Given the description of an element on the screen output the (x, y) to click on. 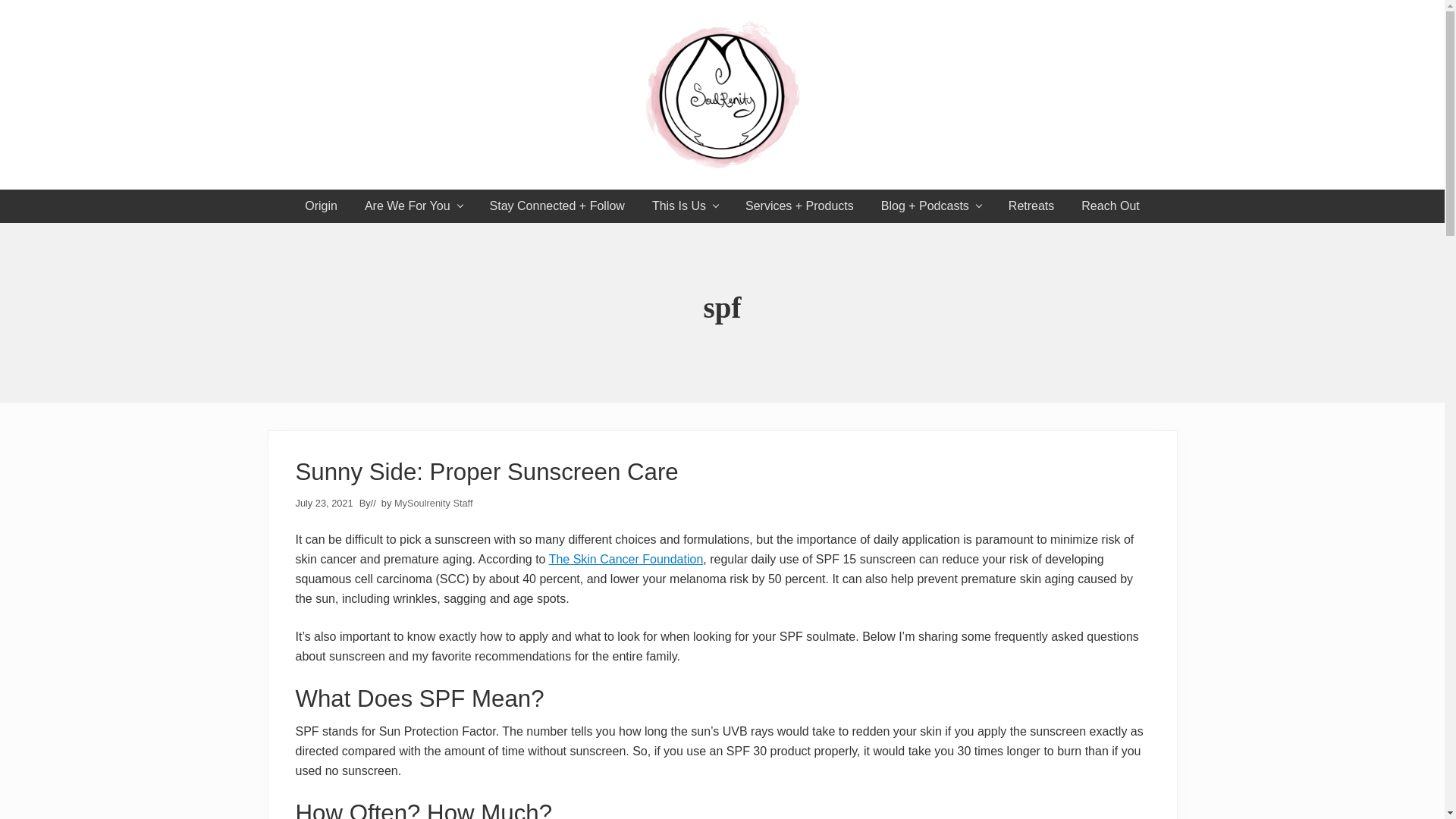
Are We For You (413, 205)
This Is Us (685, 205)
Origin (320, 205)
